Given the description of an element on the screen output the (x, y) to click on. 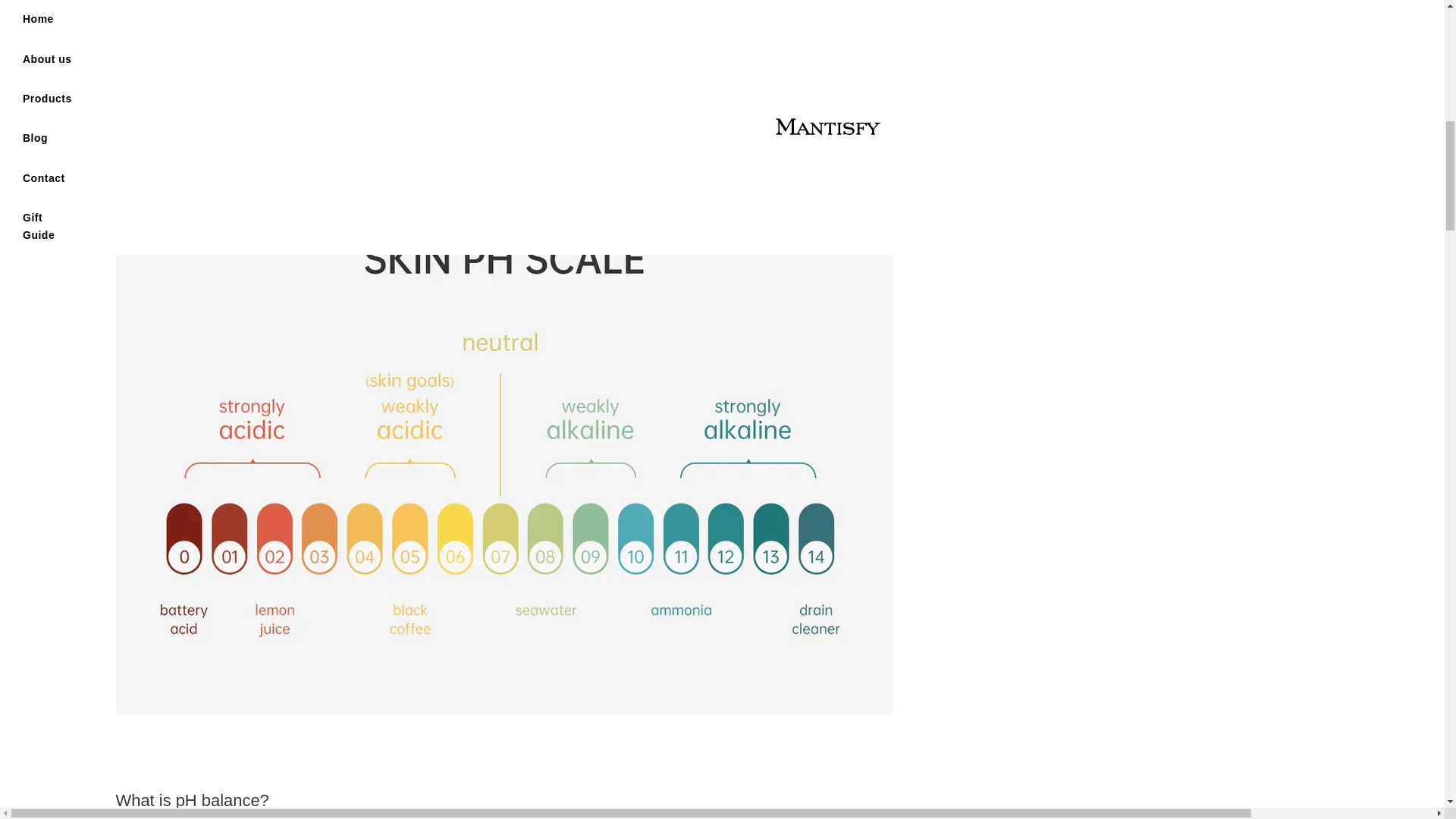
Marijuana and Your Skin: Can Smoking Weed Cause Acne? (1173, 48)
pH important to skin (343, 175)
Healthline (343, 175)
